Given the description of an element on the screen output the (x, y) to click on. 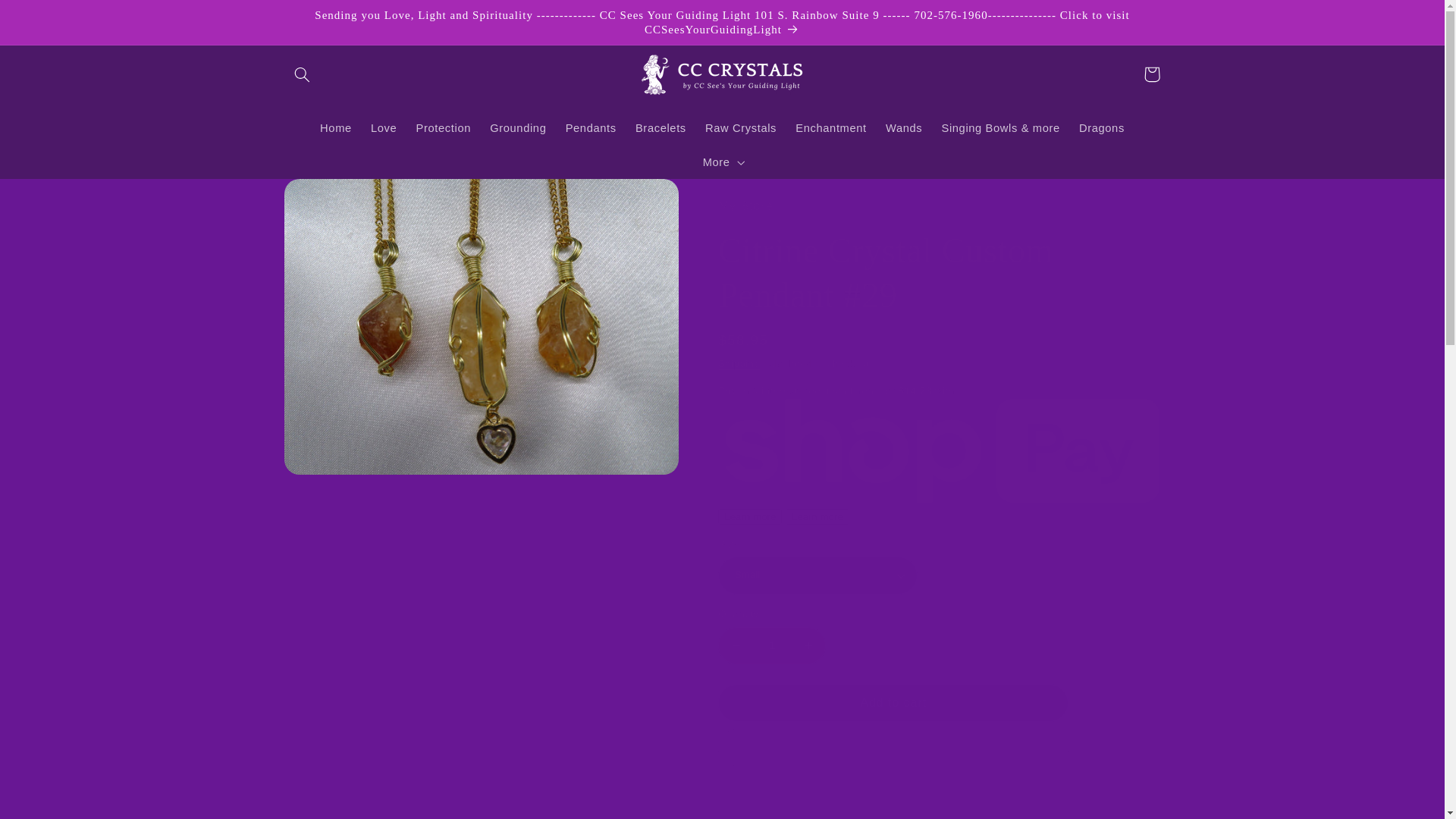
Skip to content (48, 18)
Love (383, 128)
Home (336, 128)
Open media 1 in modal (480, 327)
1 (771, 645)
